Given the description of an element on the screen output the (x, y) to click on. 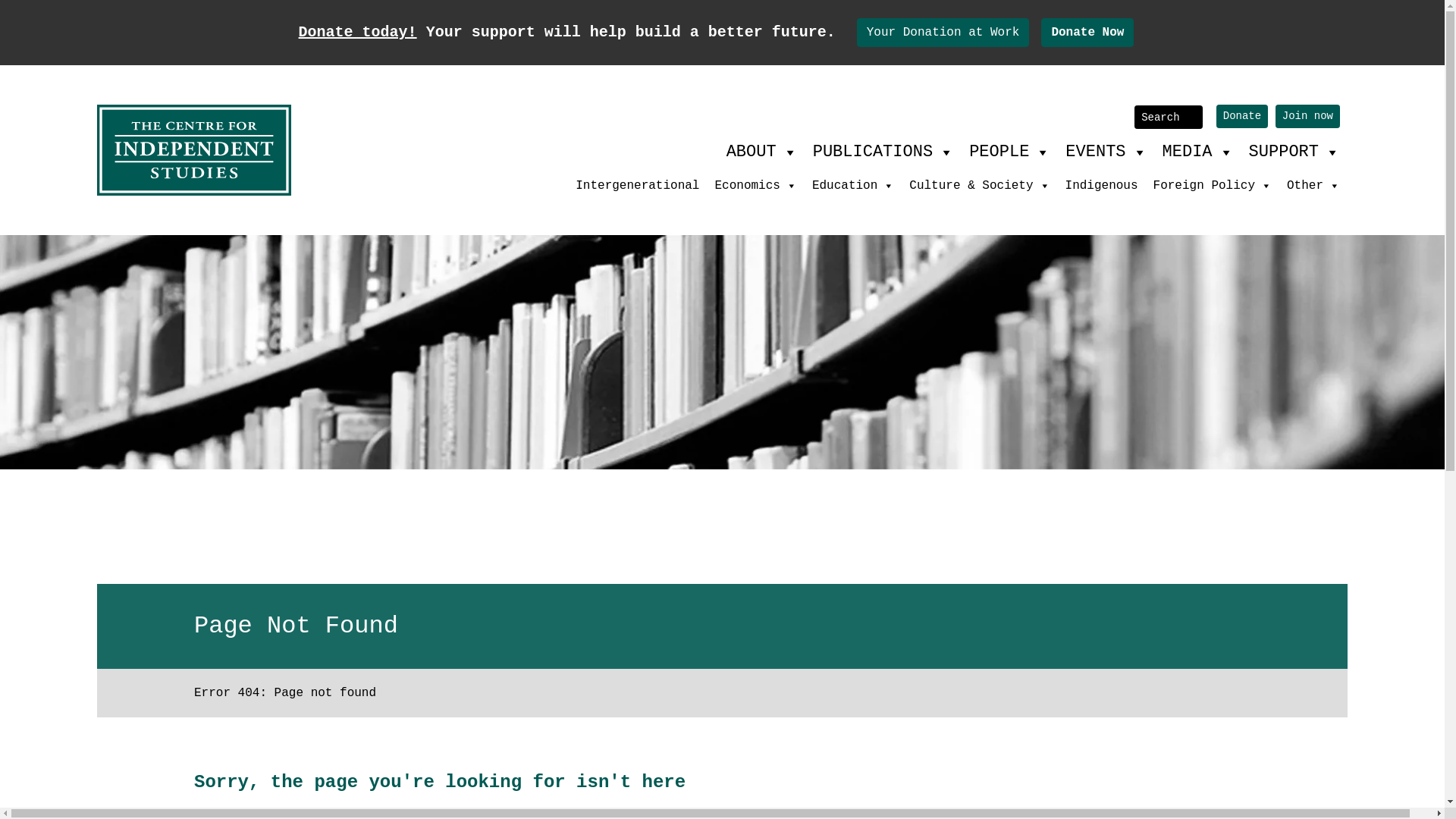
Culture & Society Element type: text (979, 185)
Join now Element type: text (1307, 116)
Donate Now Element type: text (1087, 32)
ABOUT Element type: text (761, 152)
Indigenous Element type: text (1101, 185)
PUBLICATIONS Element type: text (883, 152)
EVENTS Element type: text (1105, 152)
Foreign Policy Element type: text (1212, 185)
Donate Element type: text (1241, 116)
Your Donation at Work Element type: text (942, 32)
Donate today!
Your support will help build a better future. Element type: text (571, 31)
Other Element type: text (1313, 185)
SUPPORT Element type: text (1294, 152)
MEDIA Element type: text (1197, 152)
Intergenerational Element type: text (636, 185)
PEOPLE Element type: text (1009, 152)
Education Element type: text (852, 185)
Economics Element type: text (754, 185)
